Given the description of an element on the screen output the (x, y) to click on. 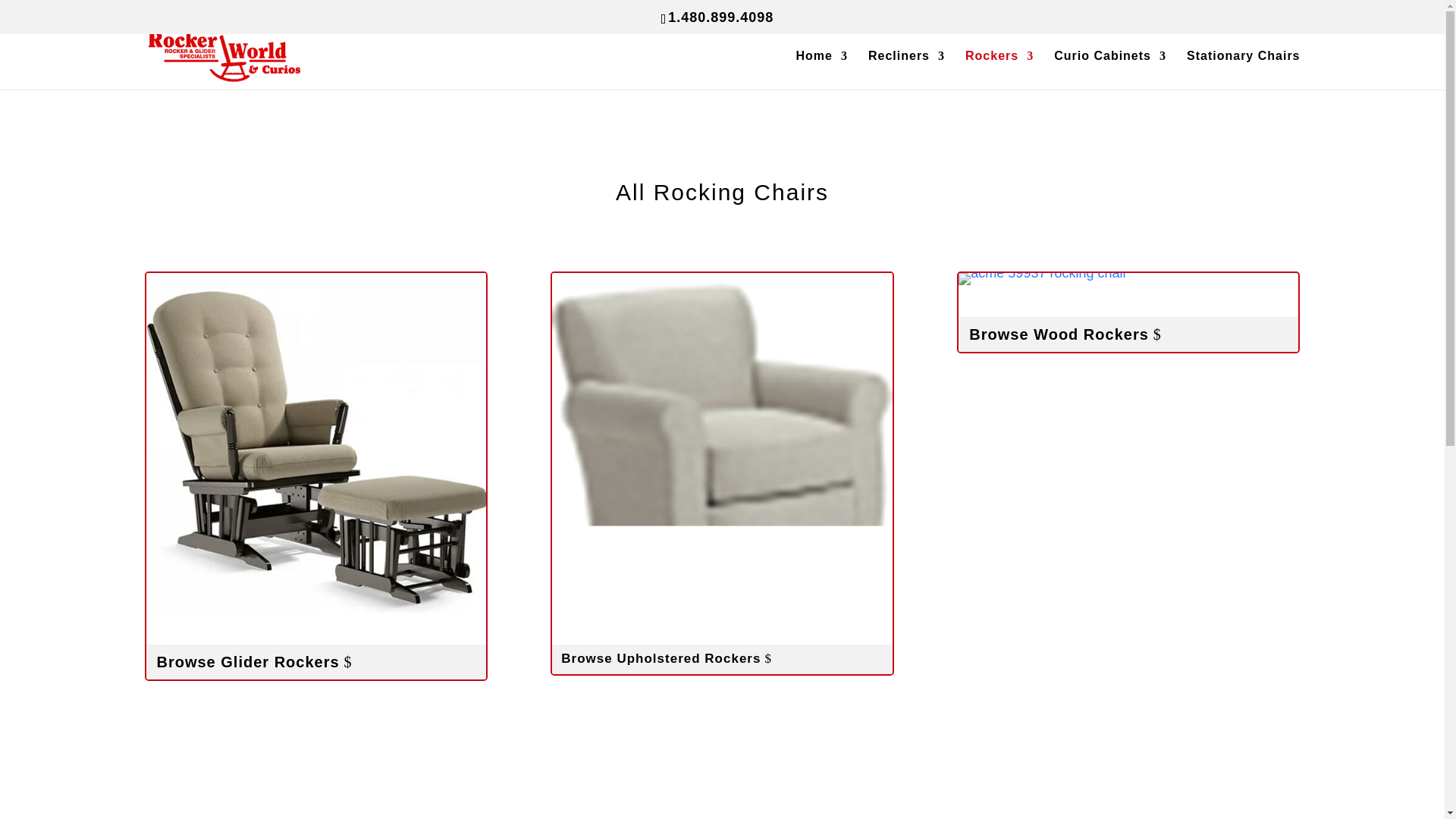
Jena-Glider-Chair (314, 442)
Browse Upholstered Rockers (721, 659)
Recliners (905, 69)
Home (821, 69)
Stationary Chairs (1243, 69)
Rocking-Chair-Imperial-73995 (1042, 278)
Browse Wood Rockers (1128, 334)
Browse Glider Rockers (314, 661)
Curio Cabinets (1110, 69)
Rockers (999, 69)
